Given the description of an element on the screen output the (x, y) to click on. 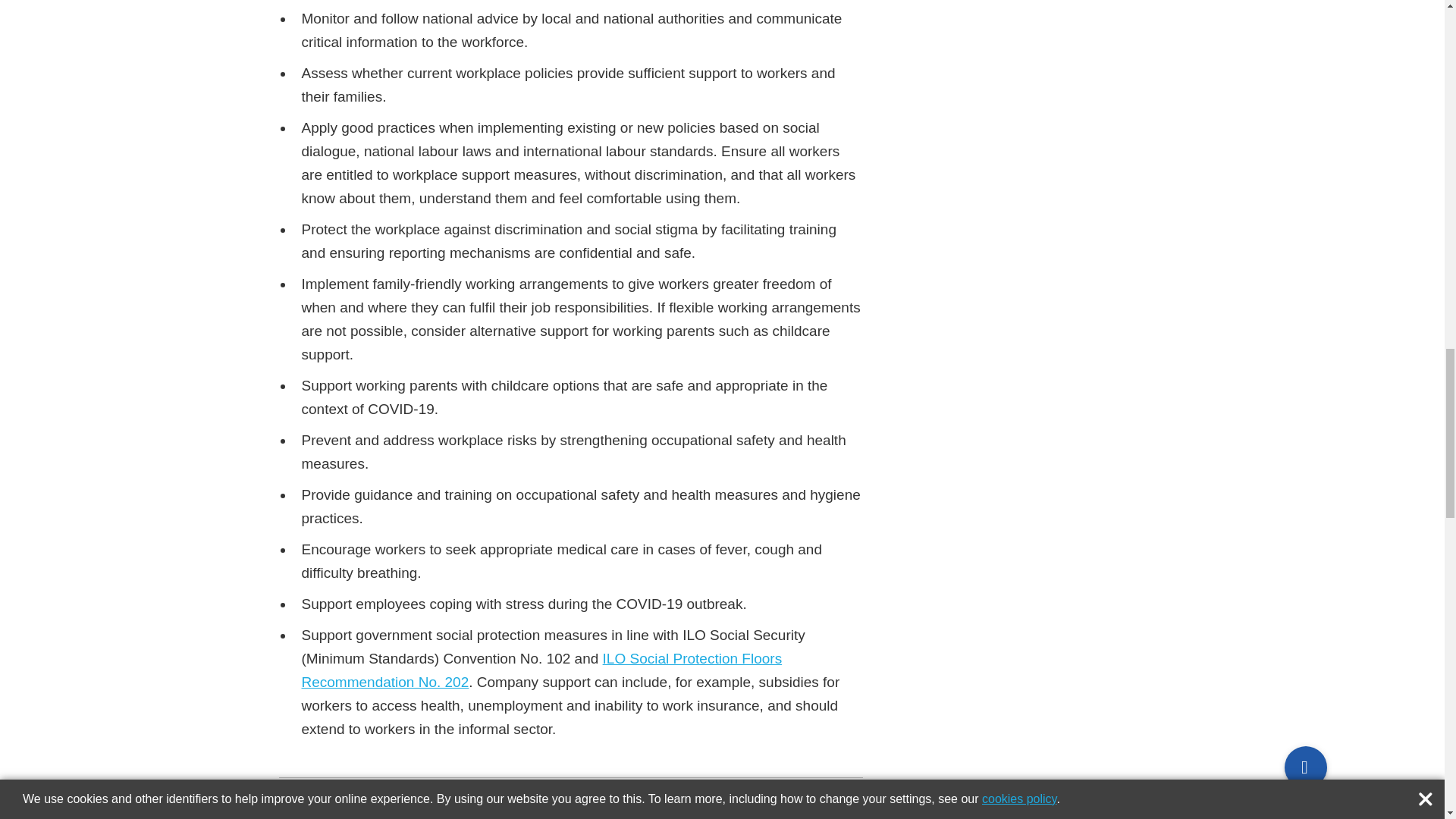
ILO Social Protection Floors Recommendation No. 202 (542, 670)
